Given the description of an element on the screen output the (x, y) to click on. 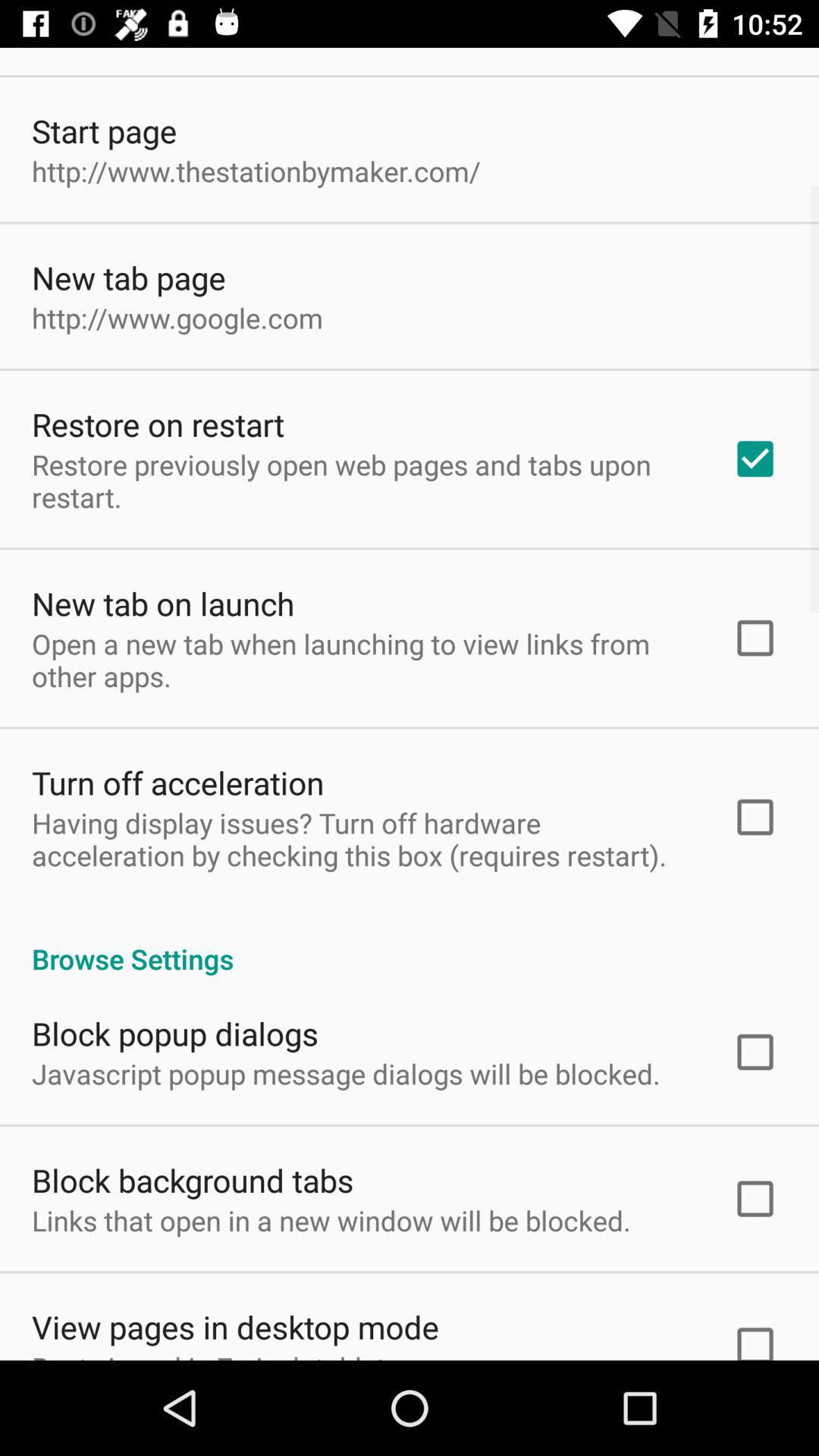
press item below the links that open (235, 1326)
